Given the description of an element on the screen output the (x, y) to click on. 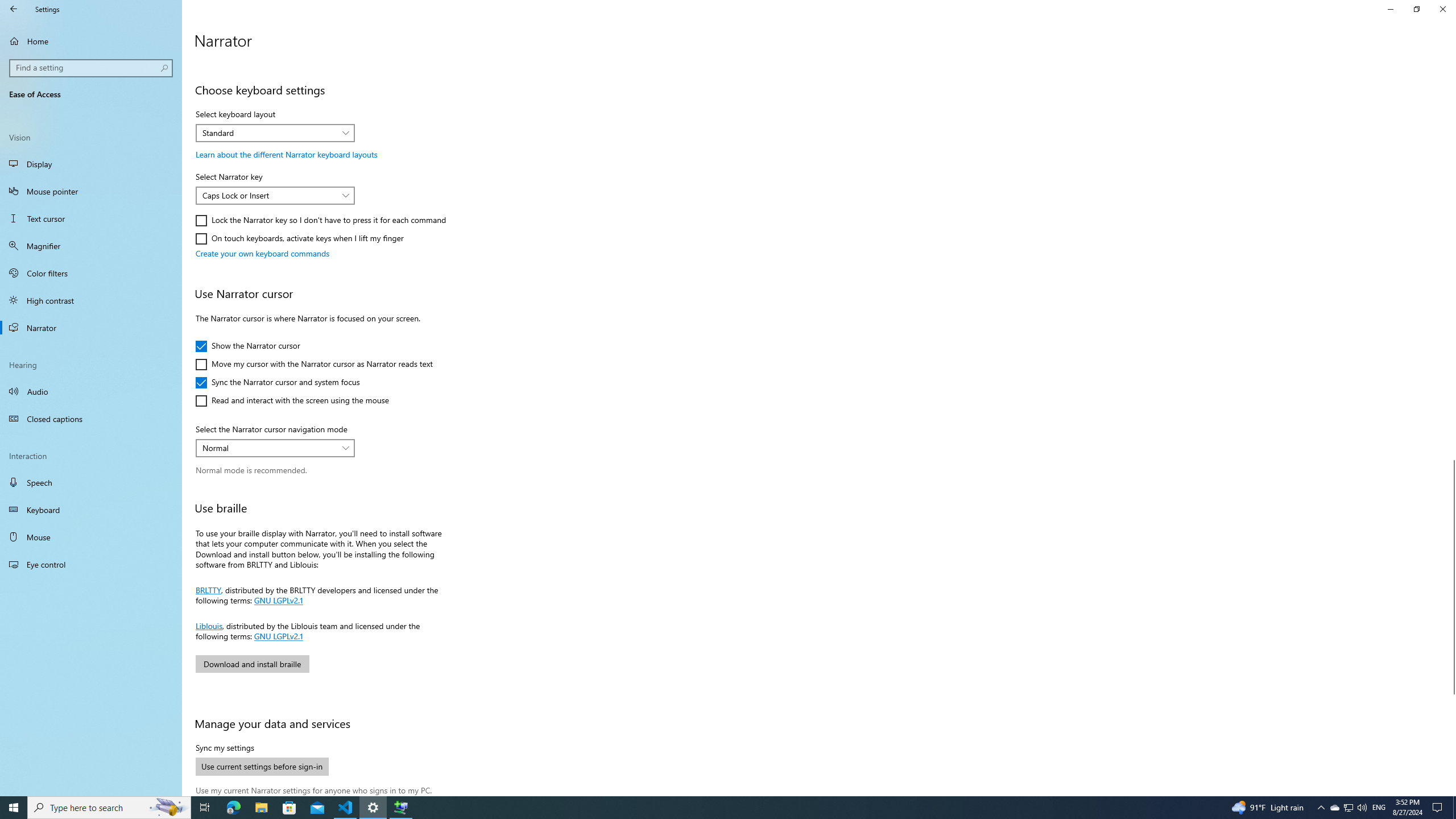
Select Narrator key (275, 195)
User Promoted Notification Area (1347, 807)
Mouse (91, 536)
Search box, Find a setting (91, 67)
Vertical Small Decrease (1451, 58)
Speech (91, 482)
Q2790: 100% (1361, 807)
Extensible Wizards Host Process - 1 running window (400, 807)
Hear Shift, Alt, and other modifier keys as you type (292, 48)
Minimize Settings (1390, 9)
Show the Narrator cursor (247, 346)
Read and interact with the screen using the mouse (292, 400)
Vertical Large Increase (1451, 740)
